Given the description of an element on the screen output the (x, y) to click on. 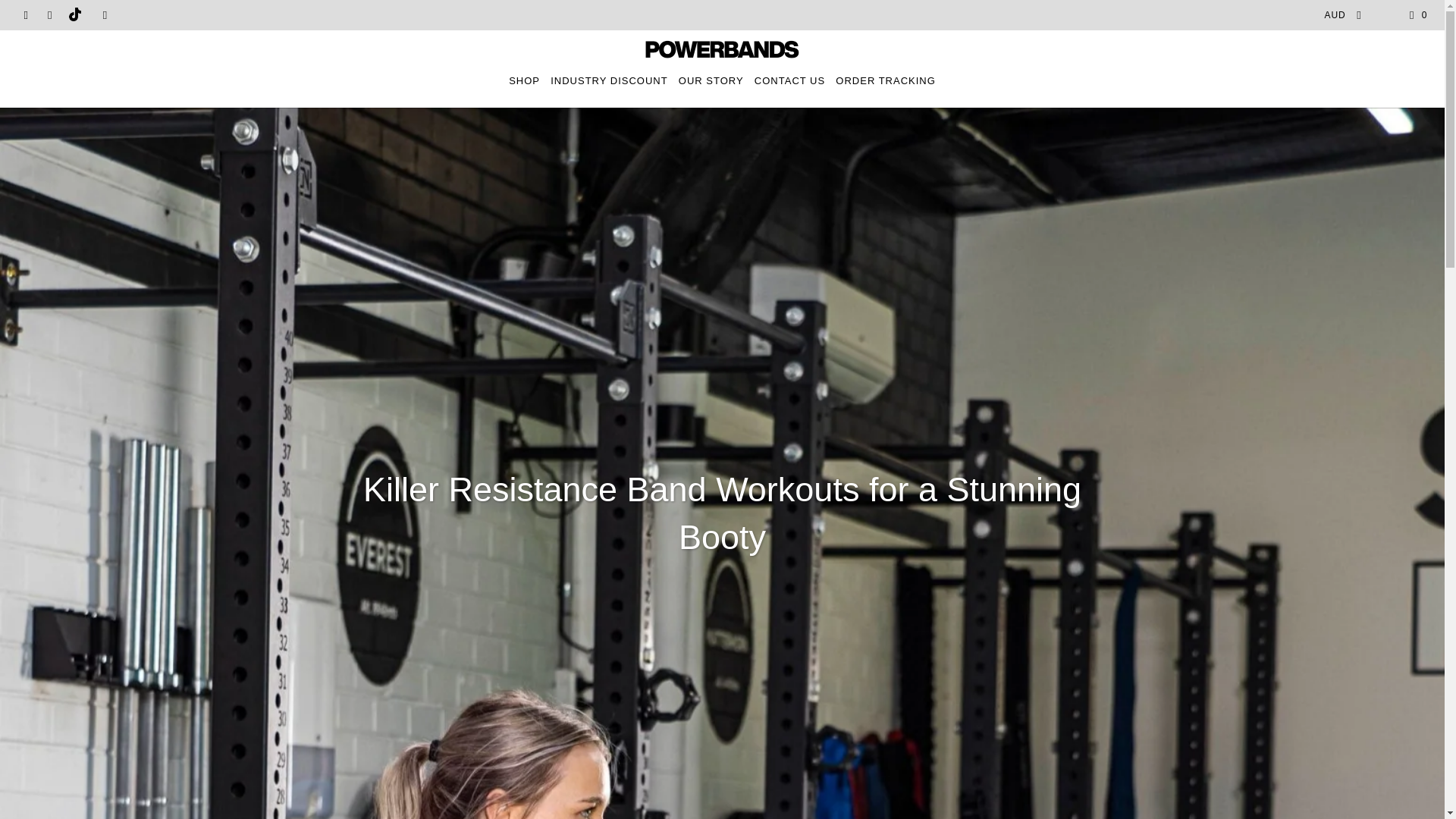
OUR STORY (711, 80)
ORDER TRACKING (885, 80)
AUD (1338, 15)
INDUSTRY DISCOUNT (608, 80)
CONTACT US (789, 80)
